Given the description of an element on the screen output the (x, y) to click on. 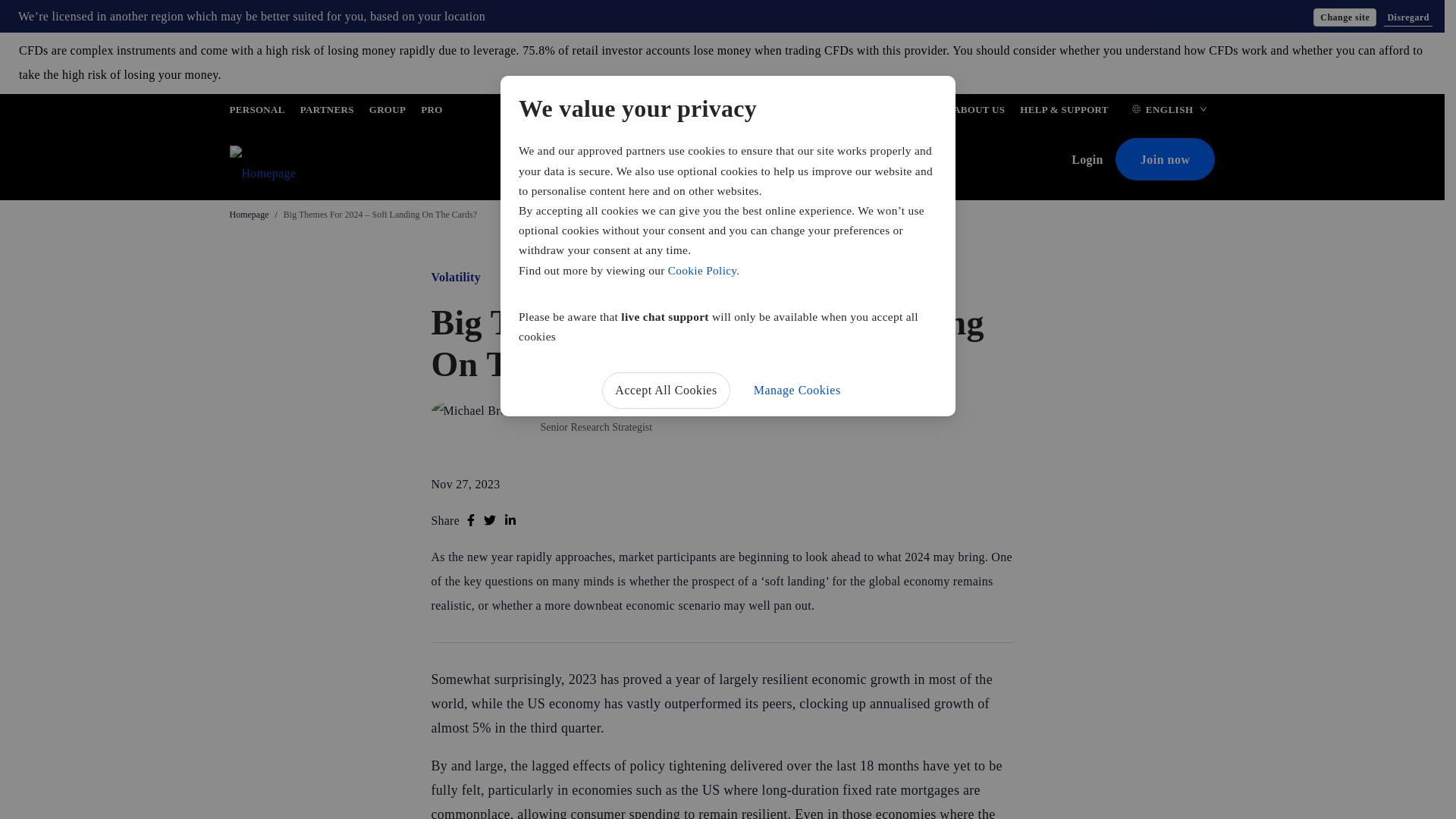
GROUP (387, 112)
GROUP (387, 112)
Analysis (753, 160)
PARTNERS (326, 112)
Pricing (566, 160)
Michael Brown (579, 408)
Pricing (566, 160)
PERSONAL (255, 112)
ENGLISH (1169, 112)
Platforms (689, 160)
PERSONAL (255, 112)
Volatility (455, 277)
Education (819, 160)
Login (1093, 159)
Markets (624, 160)
